Given the description of an element on the screen output the (x, y) to click on. 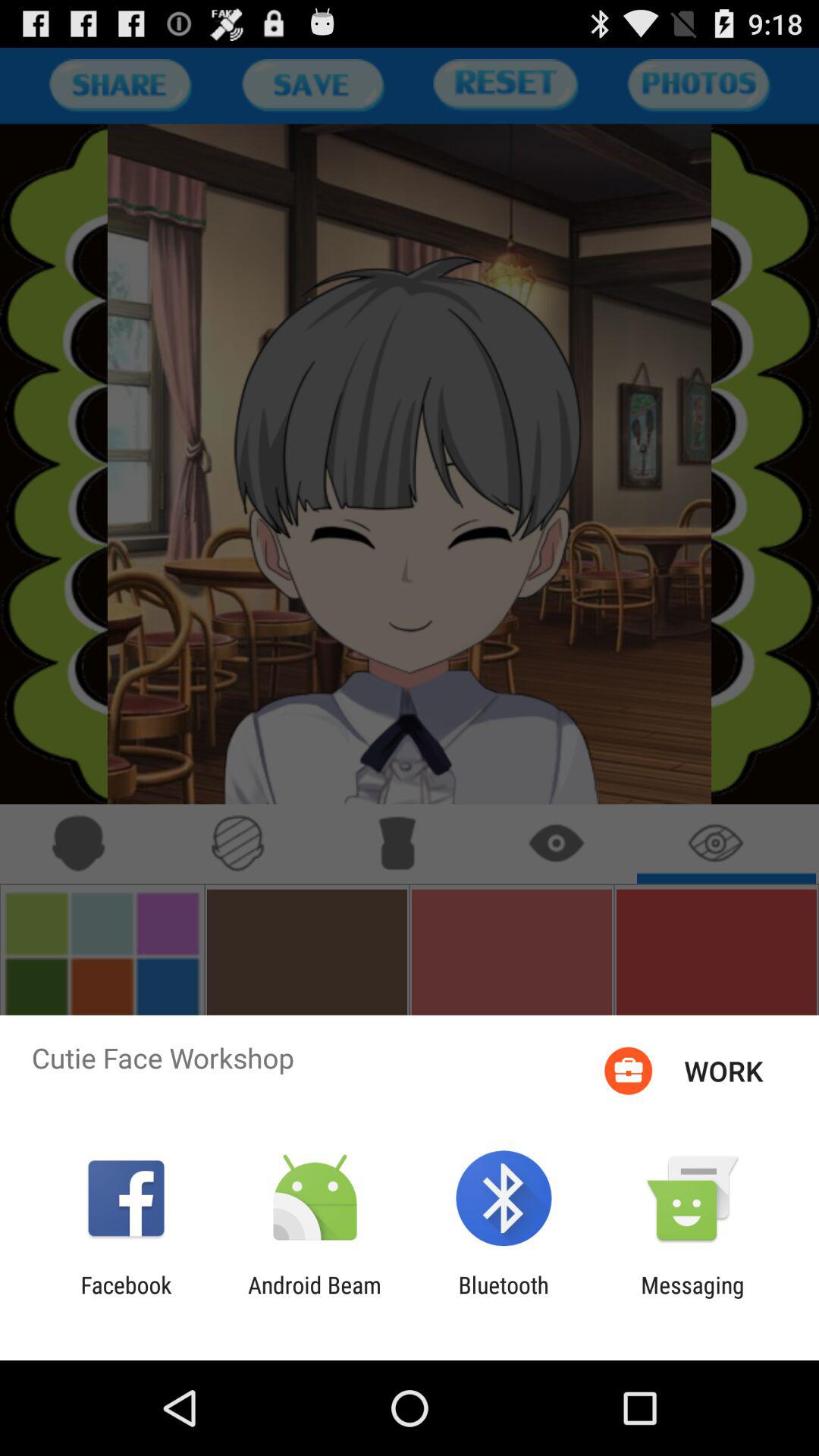
turn on android beam item (314, 1298)
